Given the description of an element on the screen output the (x, y) to click on. 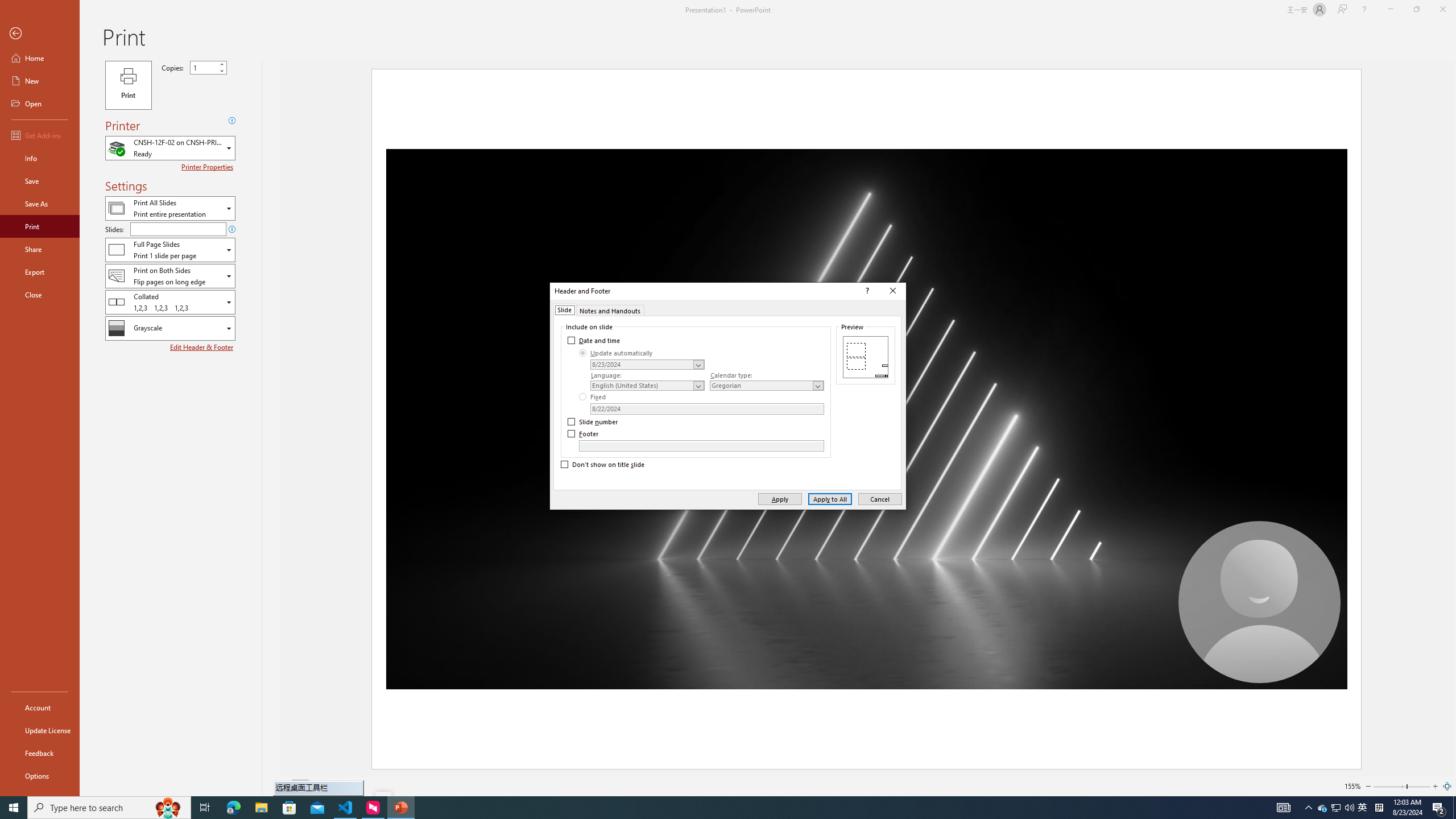
Slides (178, 228)
Don't show on title slide (602, 464)
Update automatically (616, 352)
Apply to All (830, 498)
Export (40, 271)
Page right (1418, 786)
Update License (40, 730)
Get Add-ins (40, 134)
Two-Sided Printing (169, 275)
